Given the description of an element on the screen output the (x, y) to click on. 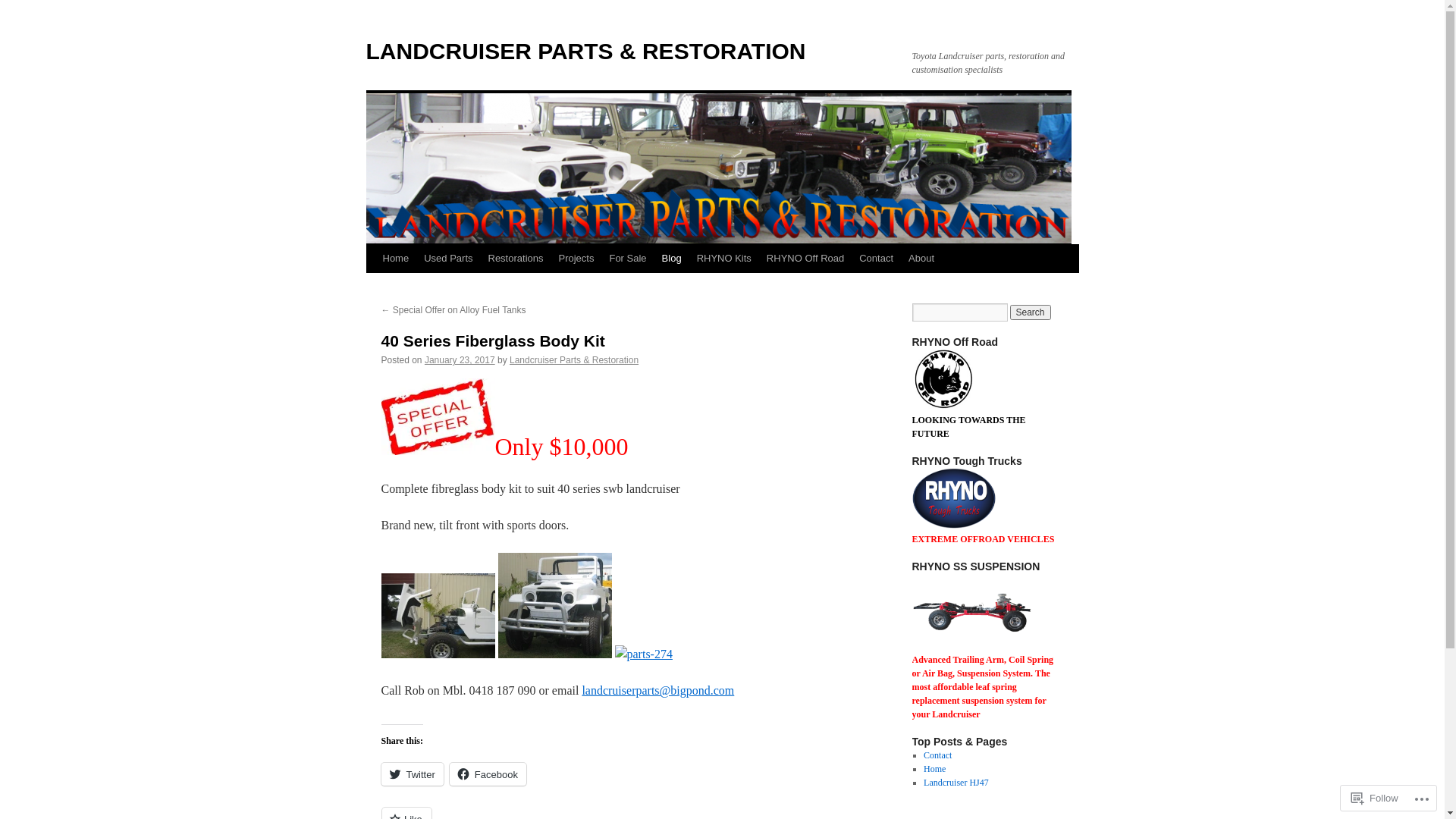
Twitter Element type: text (411, 773)
Follow Element type: text (1374, 797)
landcruiserparts@bigpond.com Element type: text (657, 690)
Contact Element type: text (937, 754)
Used Parts Element type: text (448, 258)
About Element type: text (920, 258)
Facebook Element type: text (487, 773)
Landcruiser Parts & Restoration Element type: text (573, 359)
Home Element type: text (395, 258)
Landcruiser HJ47 Element type: text (955, 782)
Restorations Element type: text (515, 258)
Home Element type: text (934, 768)
Blog Element type: text (671, 258)
LANDCRUISER PARTS & RESTORATION Element type: text (585, 50)
Projects Element type: text (575, 258)
RHYNO Kits Element type: text (724, 258)
For Sale Element type: text (627, 258)
RHYNO Off Road Element type: text (805, 258)
January 23, 2017 Element type: text (459, 359)
40 Series Fiberglass Body Kit Element type: text (492, 340)
Search Element type: text (1030, 312)
Contact Element type: text (875, 258)
